Given the description of an element on the screen output the (x, y) to click on. 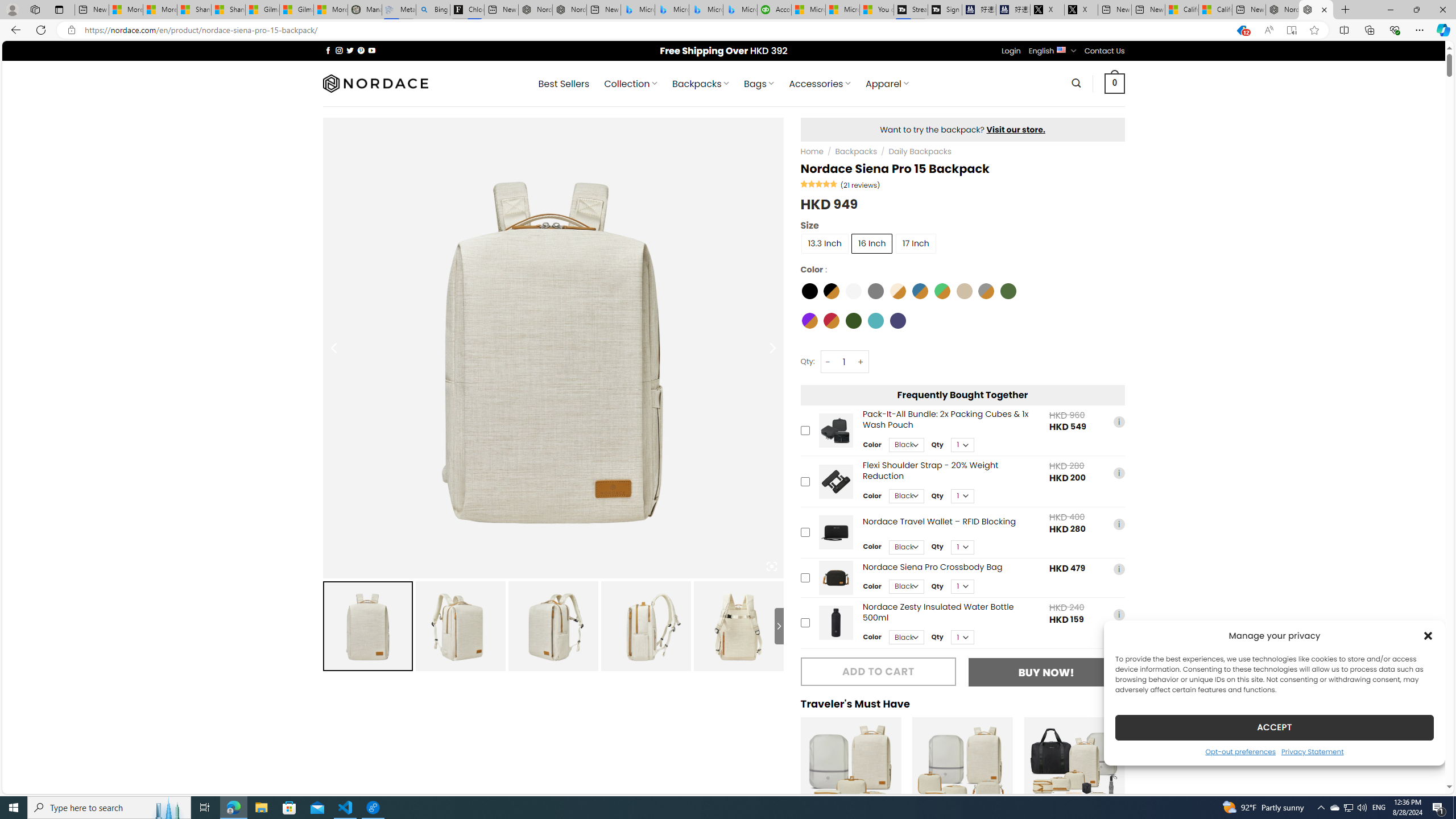
Contact Us (1104, 50)
Login (1010, 50)
Siena Pro 15 Premium Set (962, 767)
Nordace - Best Sellers (1282, 9)
13.3 Inch (824, 242)
English (1061, 49)
  Best Sellers (563, 83)
Accounting Software for Accountants, CPAs and Bookkeepers (774, 9)
Add this page to favorites (Ctrl+D) (1314, 29)
Siena Pro 15 Essential Set (850, 767)
Privacy Statement (1312, 750)
